Given the description of an element on the screen output the (x, y) to click on. 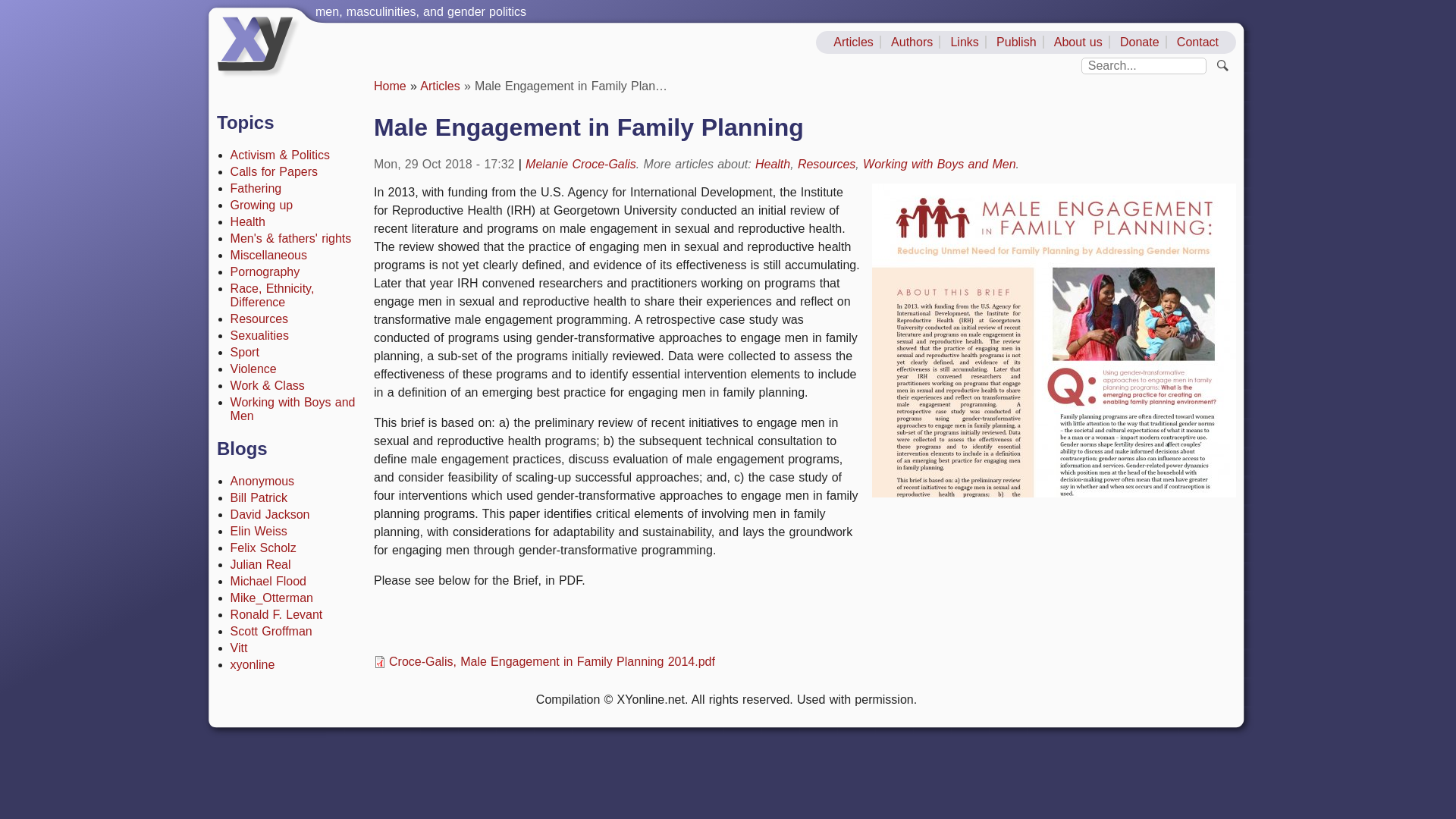
Monday, 29 October, 2018 - 17:32 (443, 164)
Search (1222, 66)
Enter the terms you wish to search for. (1144, 65)
